Given the description of an element on the screen output the (x, y) to click on. 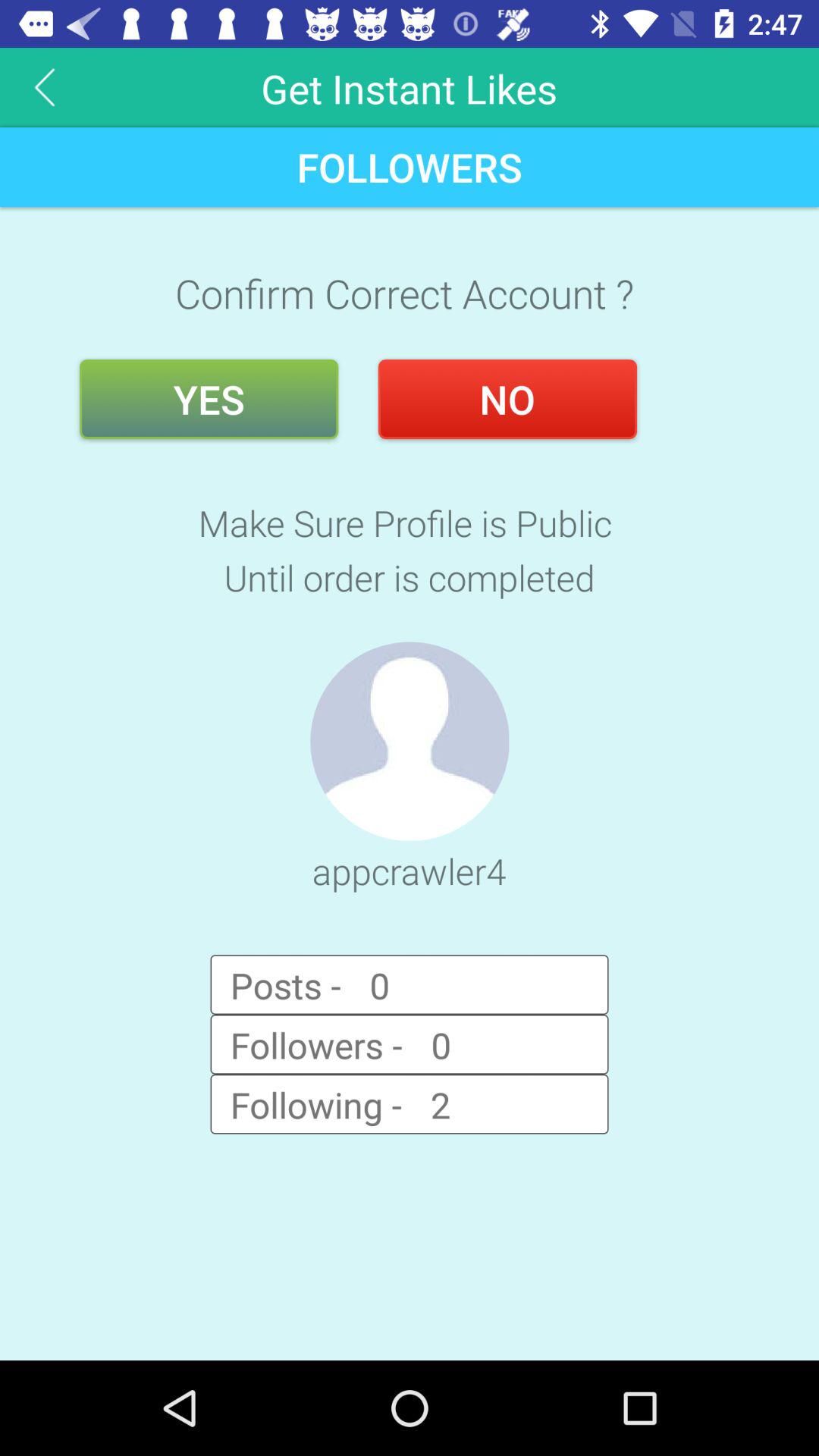
turn off the item next to no (208, 399)
